Given the description of an element on the screen output the (x, y) to click on. 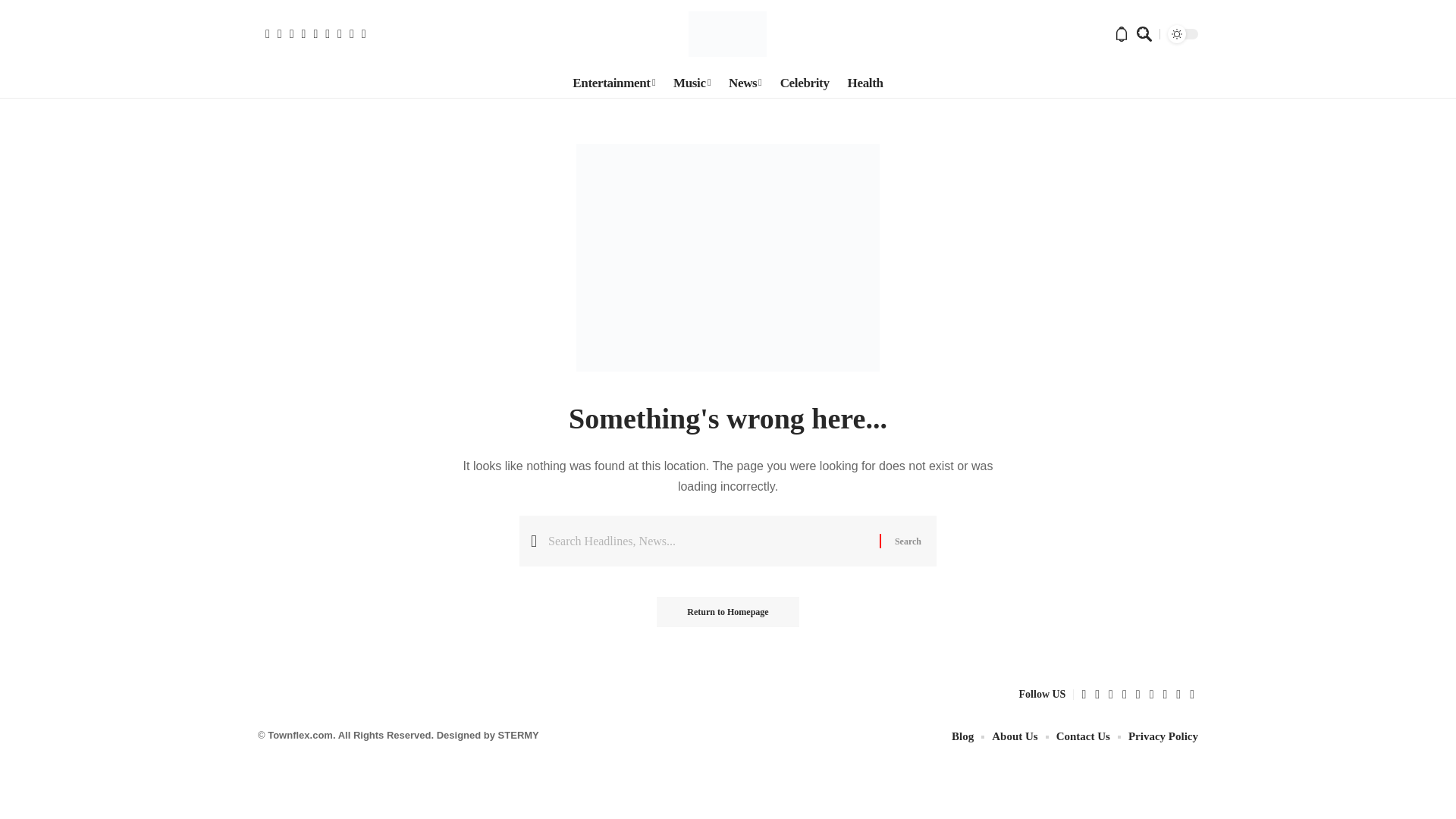
Music (691, 82)
Entertainment (613, 82)
News (745, 82)
TownFlex (727, 33)
Health (865, 82)
Search (907, 540)
Celebrity (804, 82)
